Given the description of an element on the screen output the (x, y) to click on. 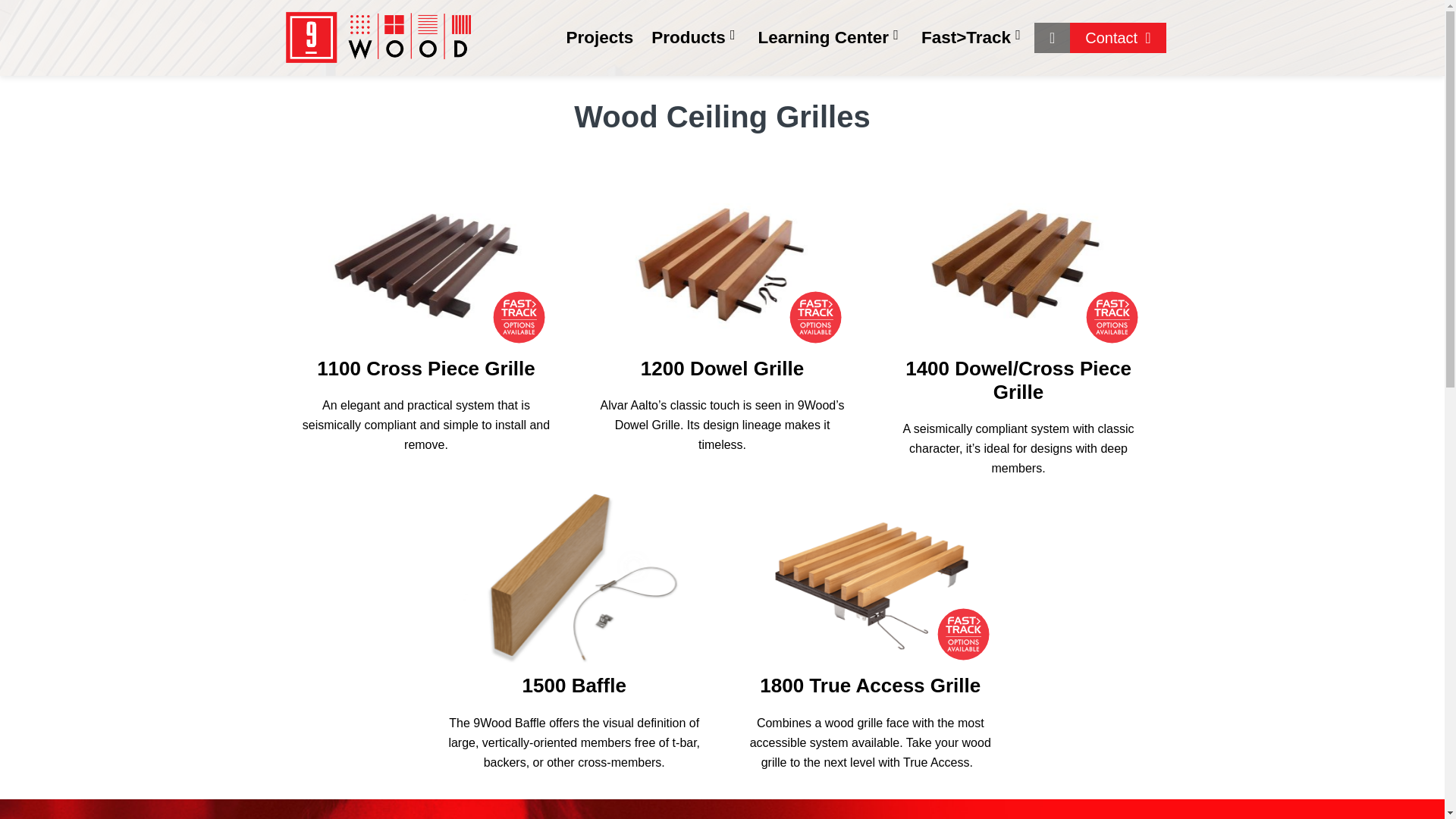
Explore (722, 258)
1800 True Access Grille (869, 575)
1100 Cross Piece Grille (426, 368)
Contact (1118, 37)
Products (695, 38)
1100 Cross Piece Grille (426, 258)
1200 Dowel Grille (721, 368)
9WOOD (336, 86)
1500 Baffle (574, 685)
Explore (1018, 258)
